Given the description of an element on the screen output the (x, y) to click on. 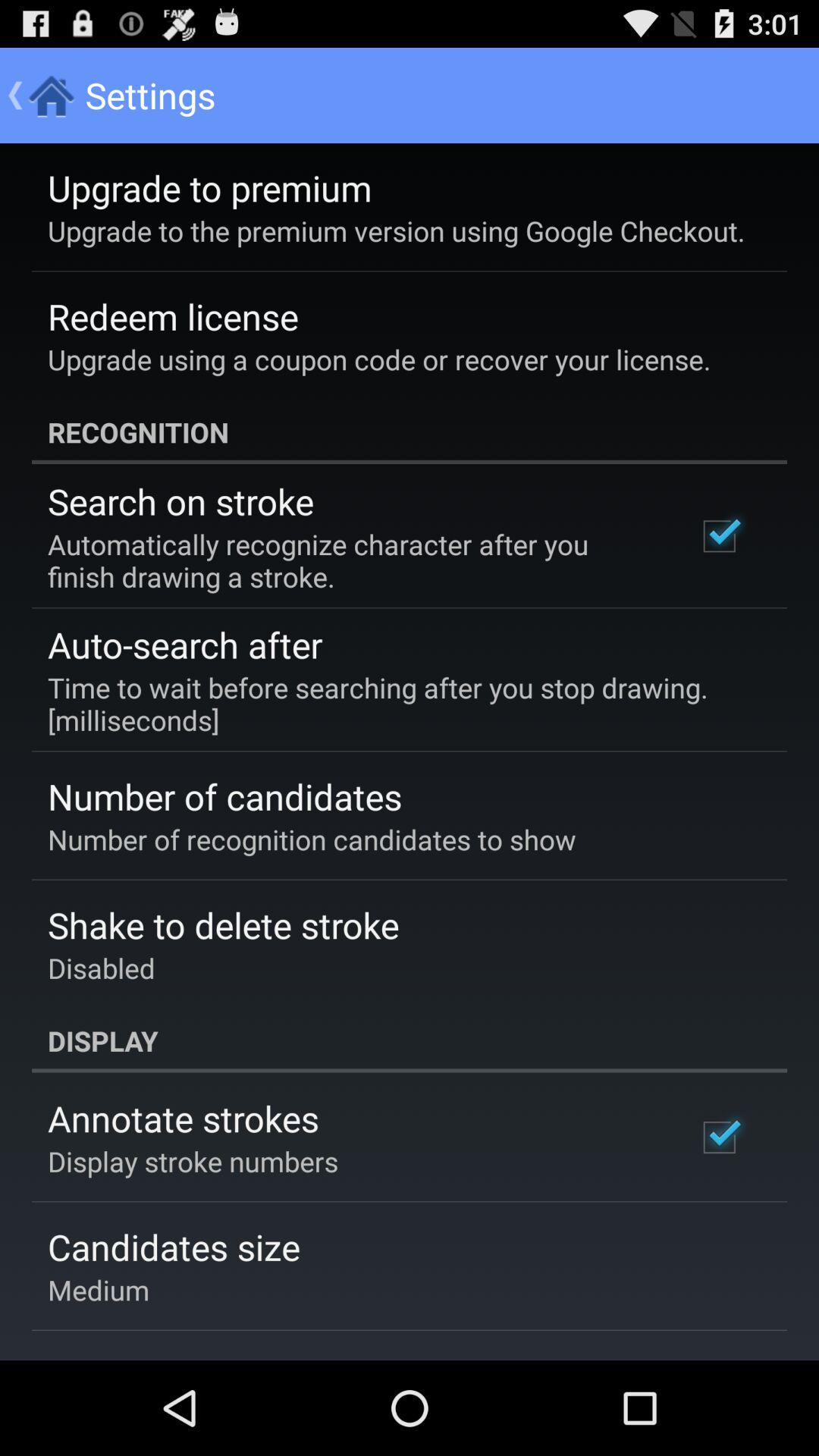
select the annotate strokes icon (183, 1118)
